Given the description of an element on the screen output the (x, y) to click on. 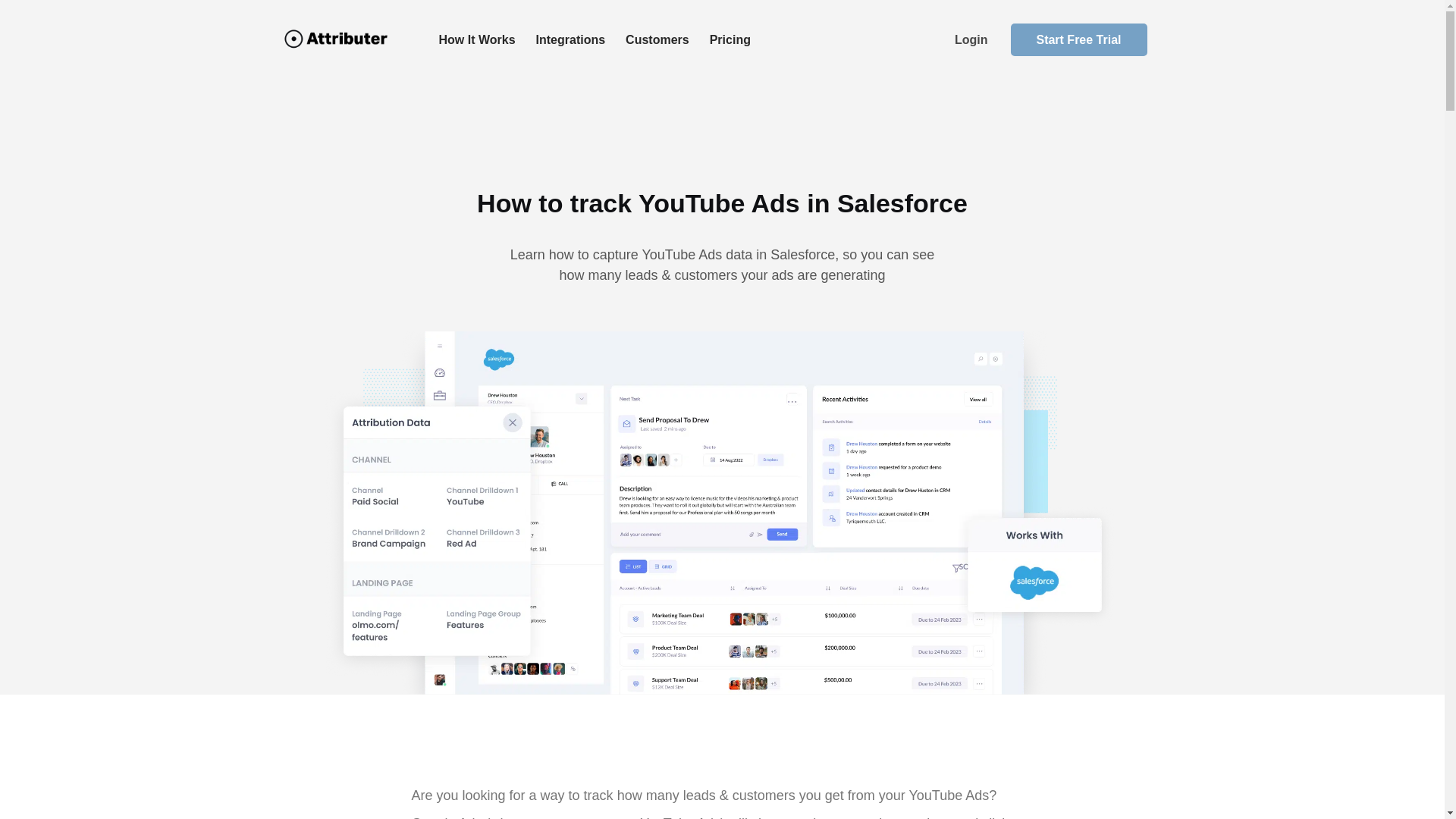
Pricing (729, 39)
Customers (657, 39)
Integrations (570, 39)
Black Logo (335, 38)
Salesforce - YouTube Ads (722, 511)
Login (971, 39)
Start Free Trial (1078, 39)
How It Works (476, 39)
